Given the description of an element on the screen output the (x, y) to click on. 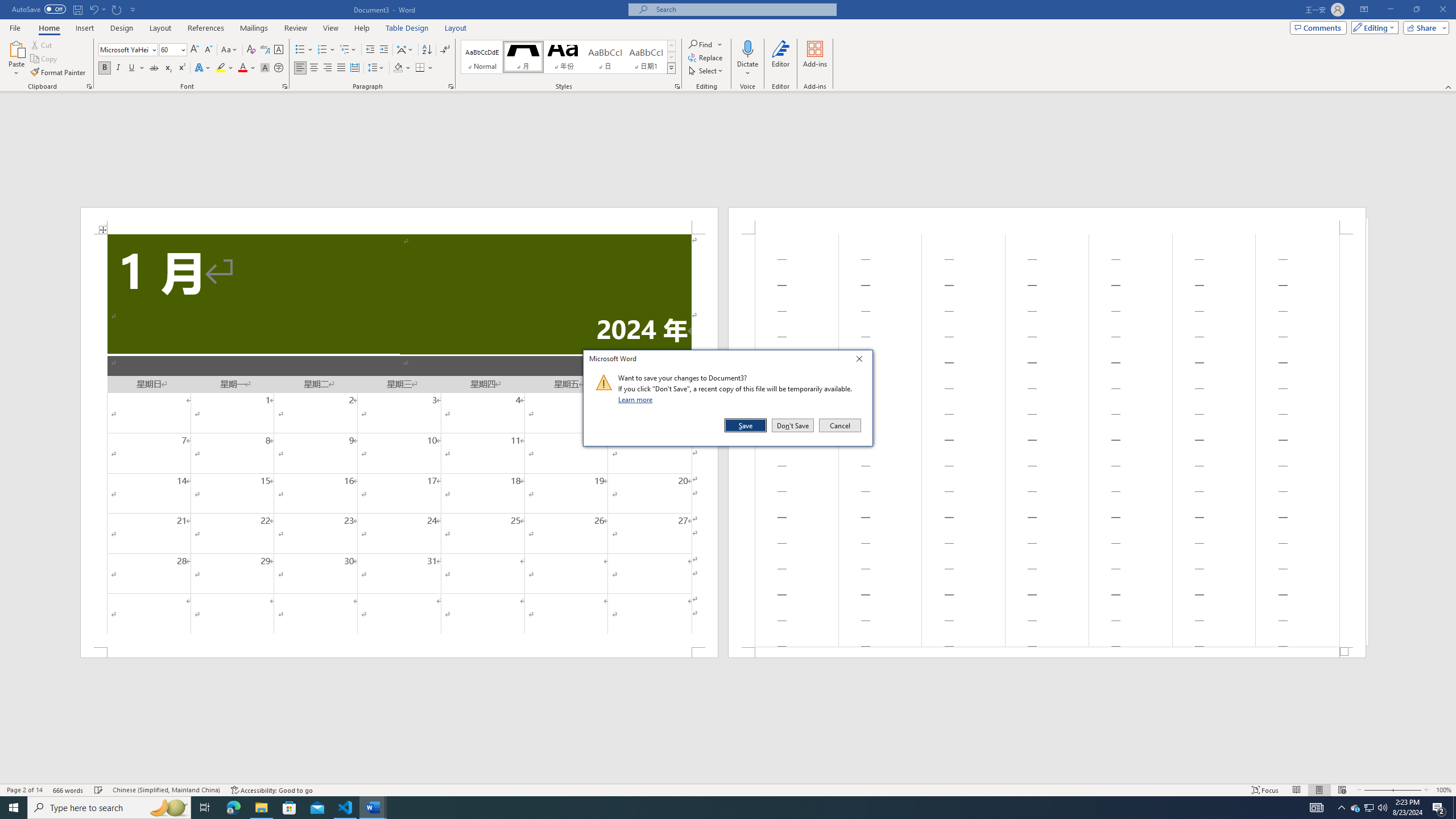
Page Number Page 2 of 14 (24, 790)
